Given the description of an element on the screen output the (x, y) to click on. 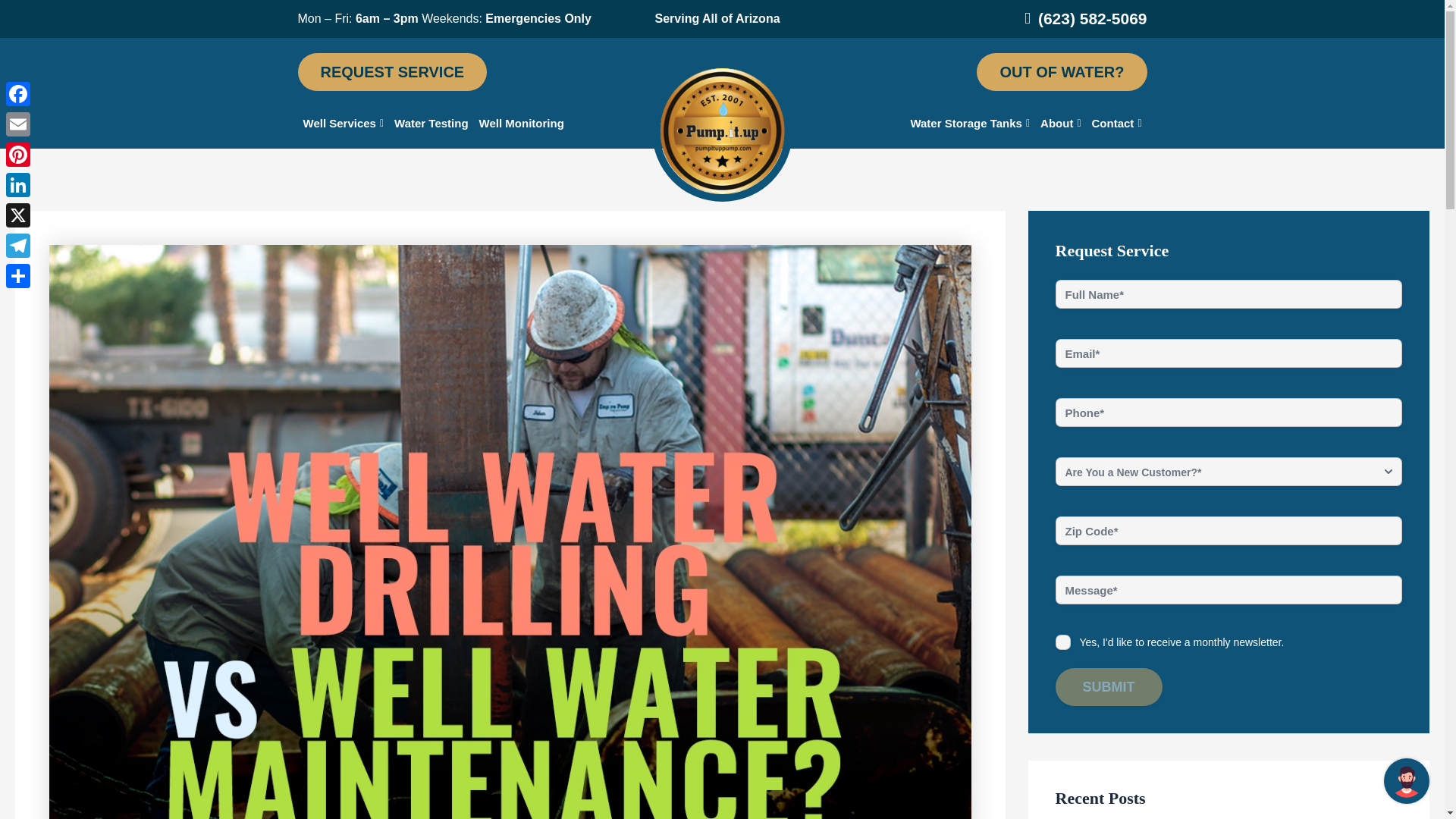
OUT OF WATER? (1061, 71)
REQUEST SERVICE (391, 71)
Well Services (342, 123)
Water Storage Tanks (969, 123)
Water Testing (431, 123)
About (1060, 123)
Facebook (17, 93)
1 (1062, 642)
Well Monitoring (521, 123)
Contact (1116, 123)
Email (17, 123)
Submit (1108, 686)
